Given the description of an element on the screen output the (x, y) to click on. 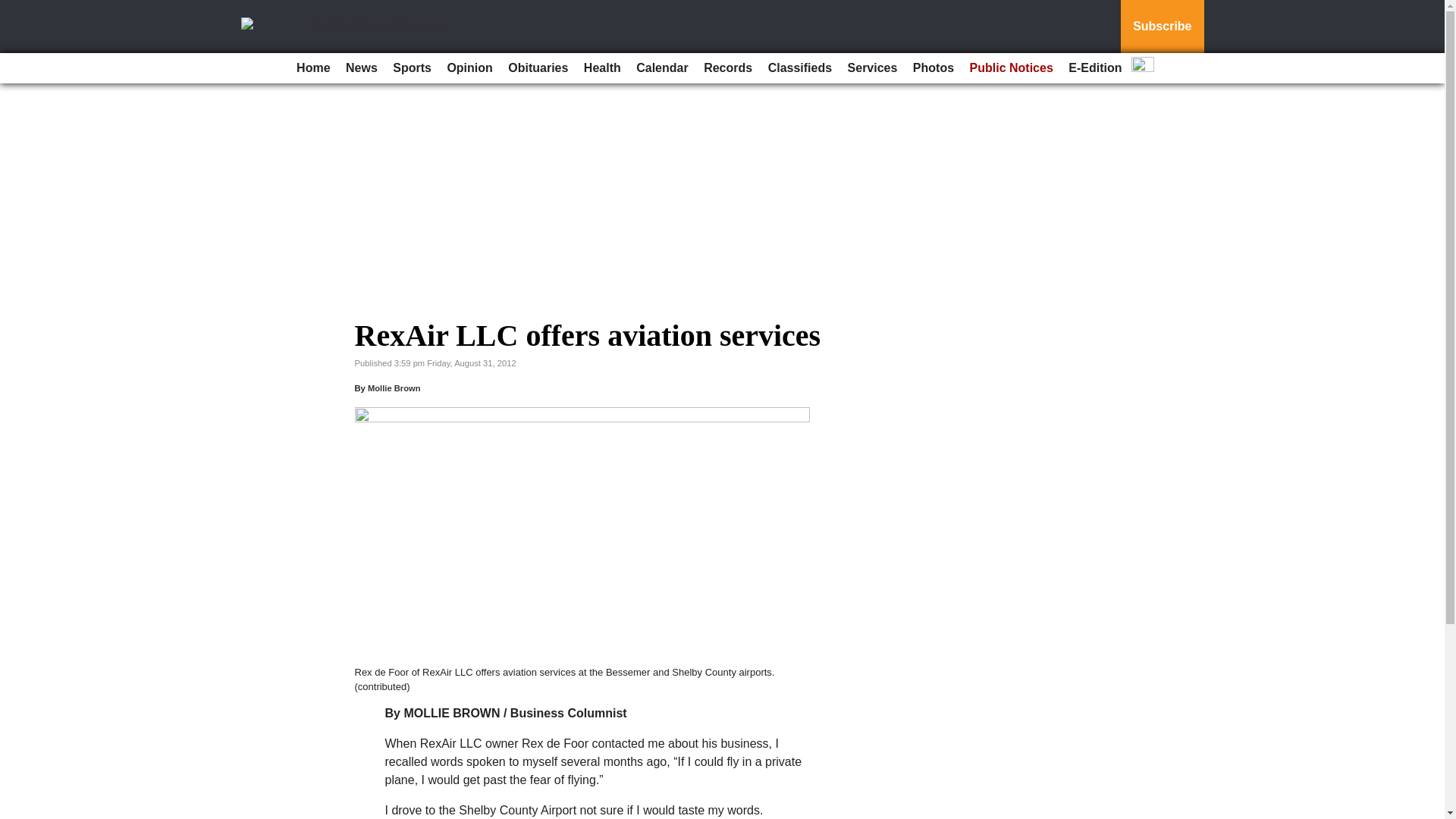
News (361, 68)
Classifieds (799, 68)
Obituaries (537, 68)
Health (602, 68)
Opinion (469, 68)
Services (872, 68)
Records (727, 68)
Sports (412, 68)
Calendar (662, 68)
Home (312, 68)
